Given the description of an element on the screen output the (x, y) to click on. 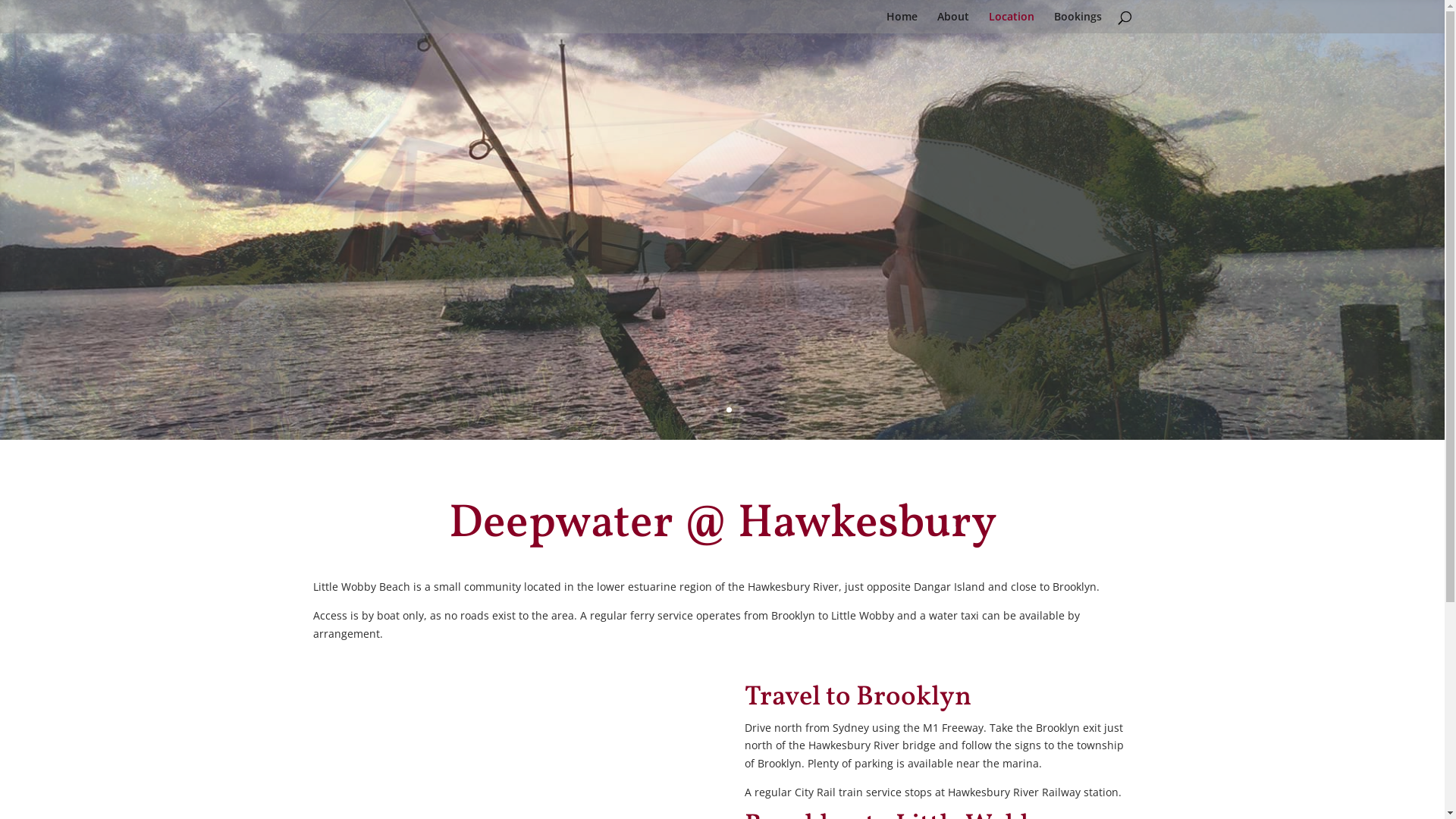
Home Element type: text (900, 22)
3 Element type: text (728, 409)
Bookings Element type: text (1077, 22)
4 Element type: text (740, 409)
2 Element type: text (715, 409)
1 Element type: text (703, 409)
About Element type: text (953, 22)
Location Element type: text (1011, 22)
